Given the description of an element on the screen output the (x, y) to click on. 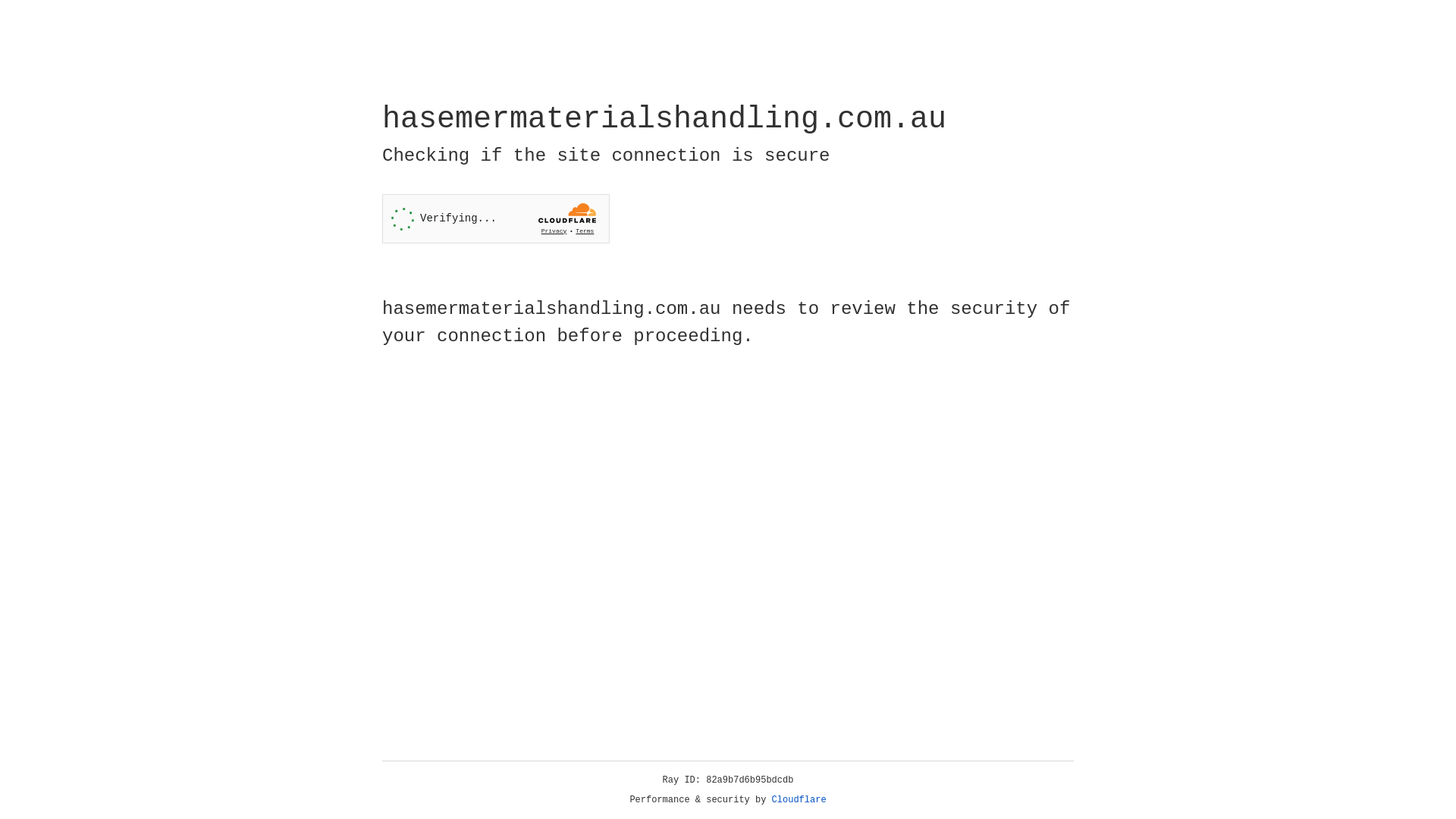
Widget containing a Cloudflare security challenge Element type: hover (495, 218)
Cloudflare Element type: text (798, 799)
